Given the description of an element on the screen output the (x, y) to click on. 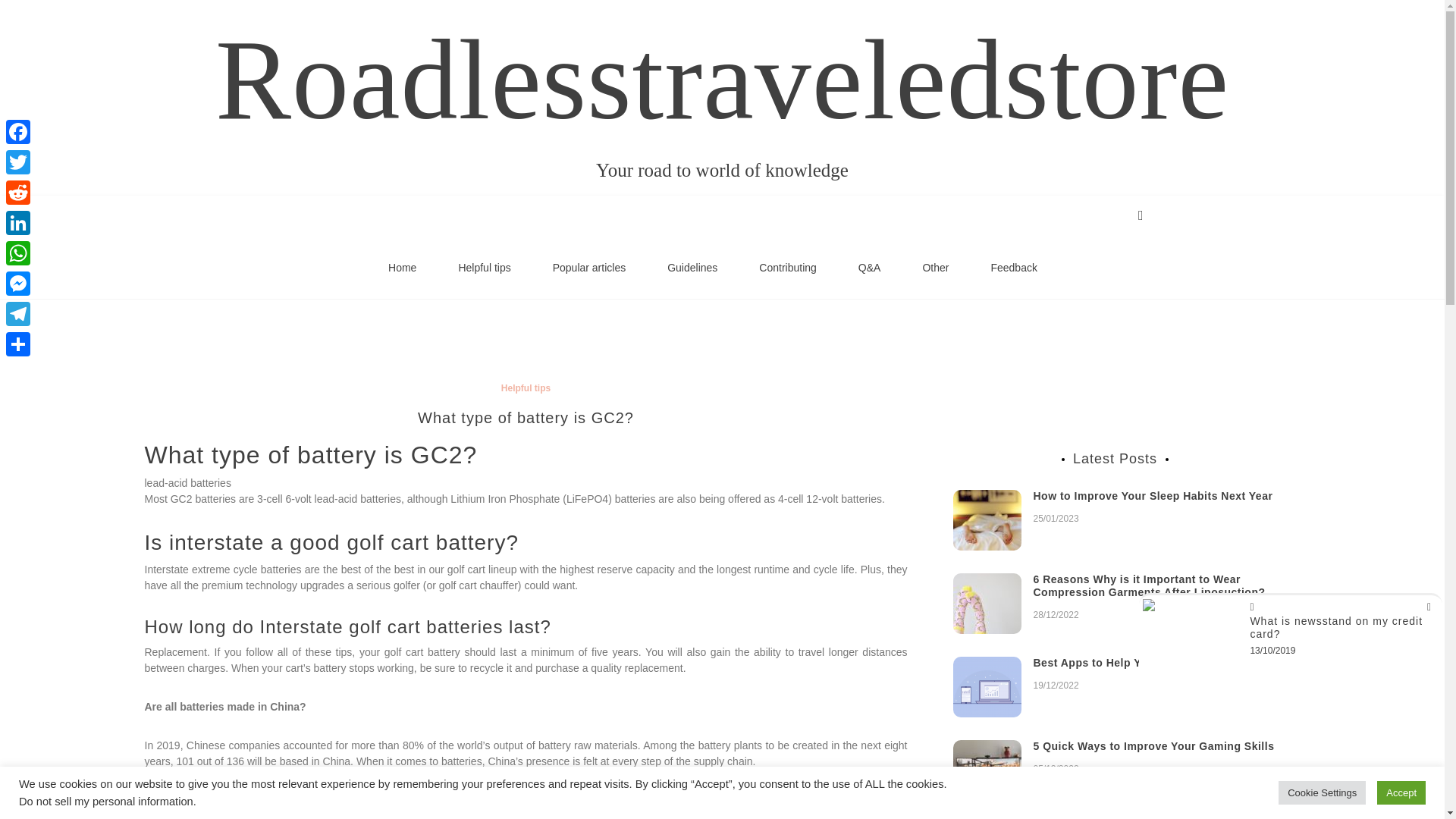
Guidelines (692, 267)
How to Improve Your Sleep Habits Next Year (1152, 495)
Helpful tips (483, 267)
Feedback (1013, 267)
Popular articles (589, 267)
Guidelines (692, 267)
Helpful tips (483, 267)
Popular articles (589, 267)
Contributing (788, 267)
Feedback (1013, 267)
5 Quick Ways to Improve Your Gaming Skills (1153, 746)
Contributing (788, 267)
Best Apps to Help You Manage Your Money (1148, 662)
